Given the description of an element on the screen output the (x, y) to click on. 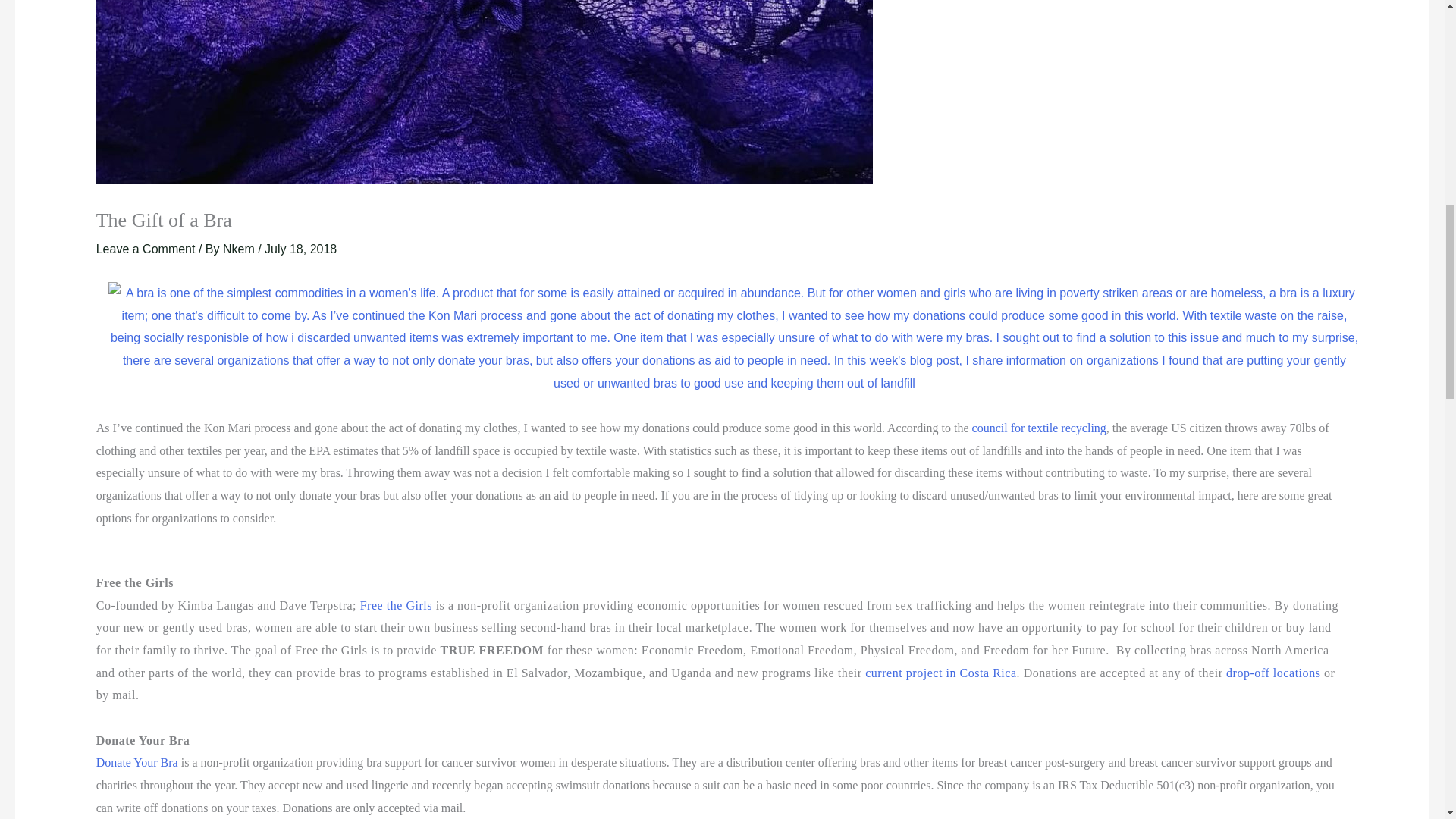
View all posts by Nkem (239, 248)
Leave a Comment (145, 248)
council for textile recycling (1039, 427)
Donate Your Bra (136, 762)
current project in Costa Rica (940, 672)
Free the Girls (395, 604)
drop-off locations (1274, 672)
Nkem (239, 248)
